Given the description of an element on the screen output the (x, y) to click on. 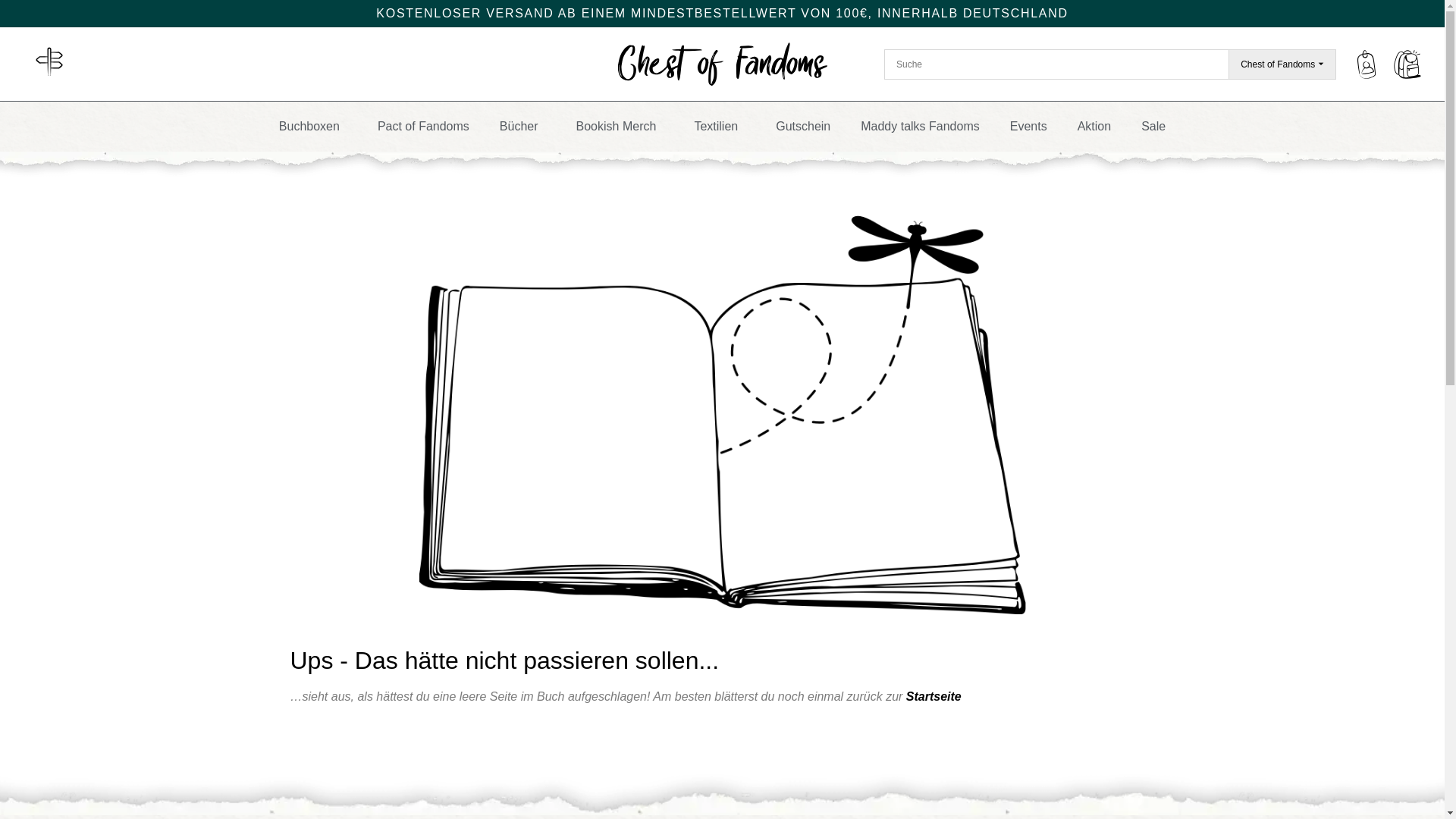
Aktion (1093, 126)
Events (1028, 126)
Sale (1152, 126)
Gutschein (802, 126)
Pact of Fandoms (423, 126)
Bookish Merch (619, 126)
Maddy talks Fandoms (919, 126)
Buchboxen (312, 126)
Textilien (719, 126)
